Given the description of an element on the screen output the (x, y) to click on. 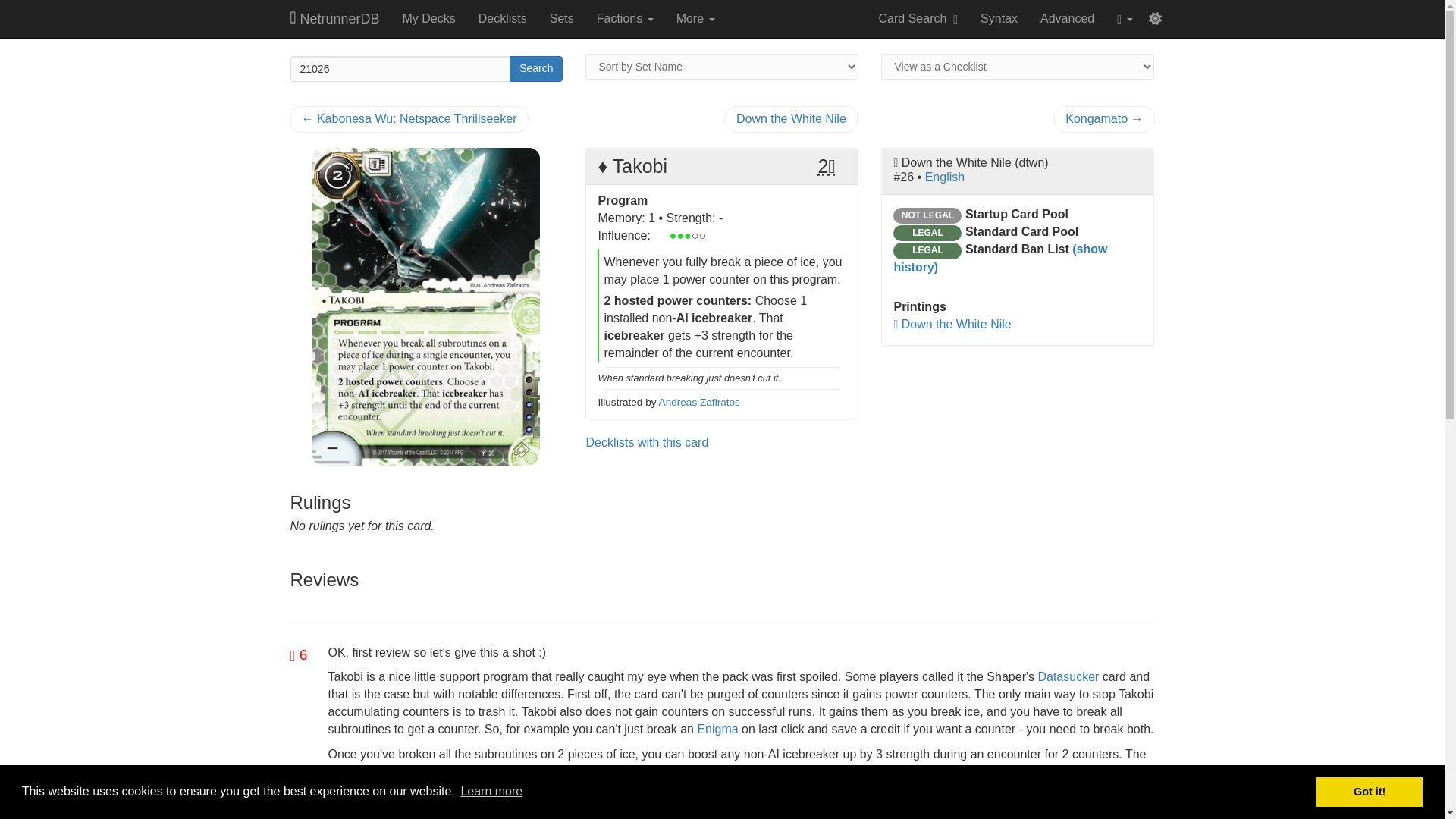
Search (535, 68)
Down the White Nile (791, 119)
Decklists with this card (646, 441)
6 (298, 654)
Learn more (491, 791)
More (695, 18)
Decklists (502, 18)
21026 (400, 68)
Syntax (999, 18)
My Decks (427, 18)
Down the White Nile (951, 323)
Factions (625, 18)
Card Search   (918, 18)
Got it! (1369, 791)
NetrunnerDB (335, 18)
